Given the description of an element on the screen output the (x, y) to click on. 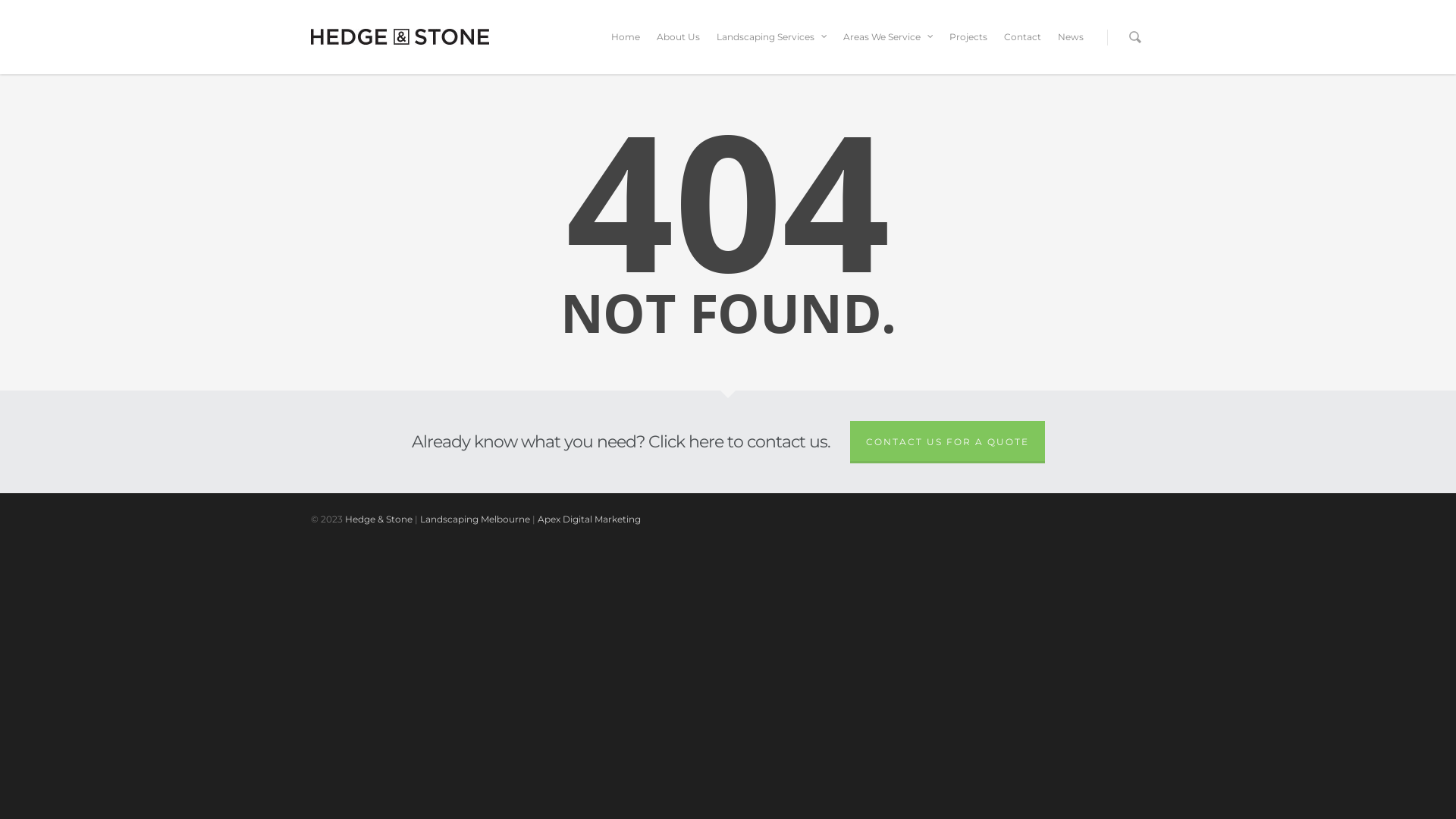
Landscaping Melbourne Element type: text (475, 518)
Landscaping Services Element type: text (771, 47)
Contact Element type: text (1022, 47)
CONTACT US FOR A QUOTE Element type: text (946, 441)
About Us Element type: text (678, 47)
Areas We Service Element type: text (887, 47)
Apex Digital Marketing Element type: text (588, 518)
Hedge & Stone Element type: text (378, 518)
Projects Element type: text (967, 47)
News Element type: text (1070, 47)
Home Element type: text (625, 47)
